Given the description of an element on the screen output the (x, y) to click on. 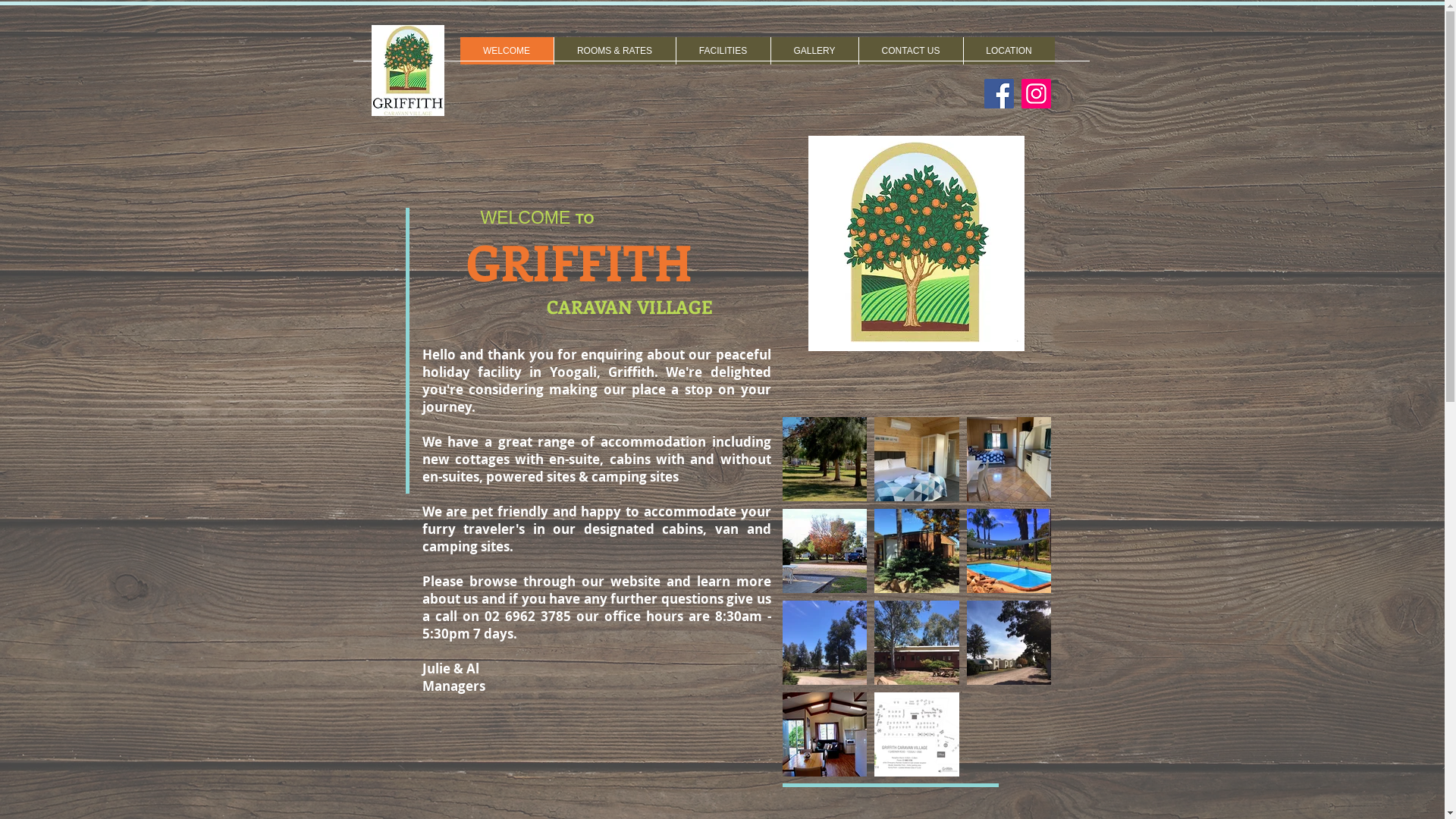
FACILITIES Element type: text (721, 50)
LOCATION Element type: text (1008, 50)
WELCOME Element type: text (505, 50)
ROOMS & RATES Element type: text (614, 50)
CONTACT US Element type: text (910, 50)
GALLERY Element type: text (814, 50)
